Given the description of an element on the screen output the (x, y) to click on. 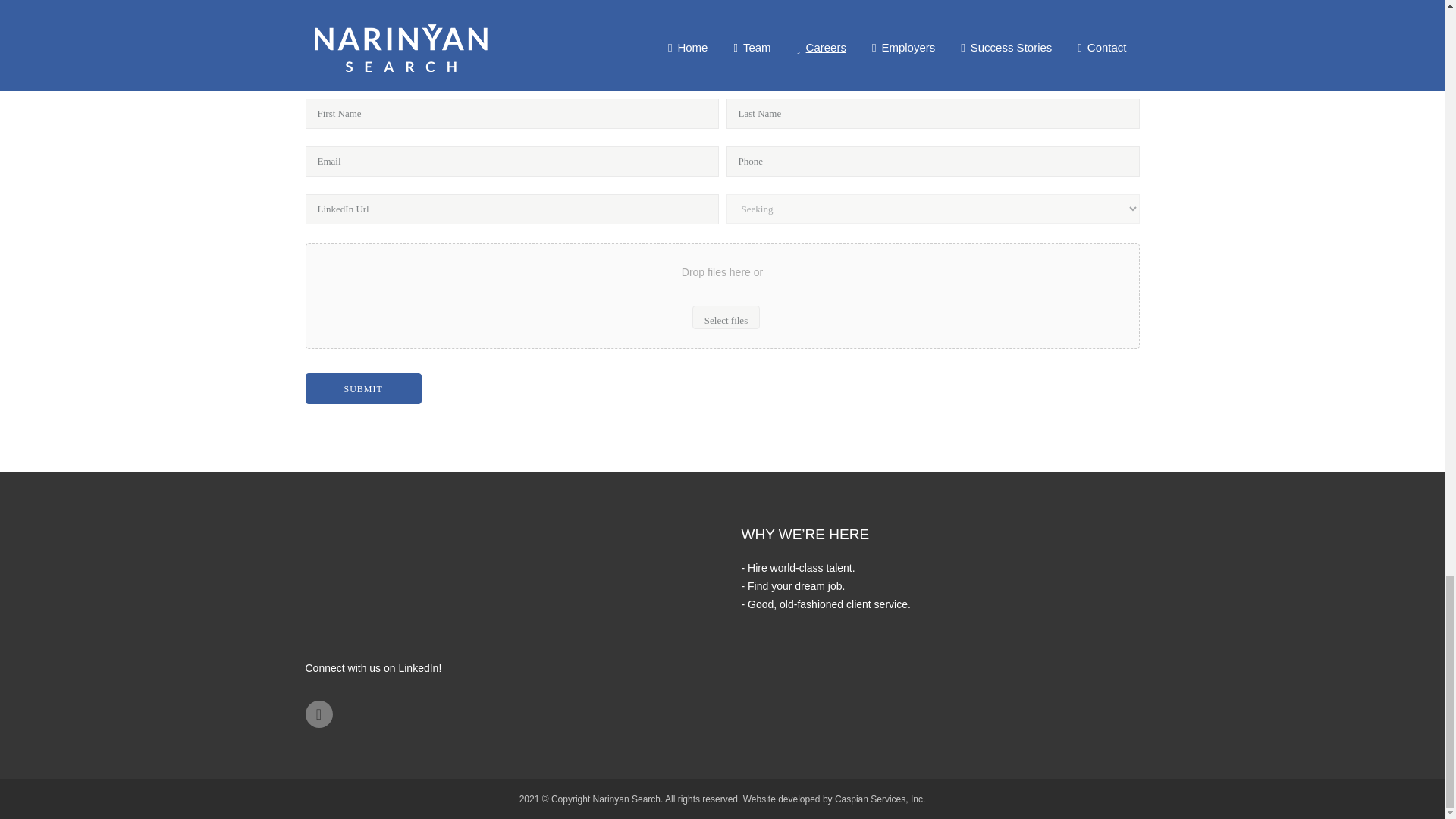
Narinyan Search (626, 798)
Submit (362, 388)
Caspian Services, Inc (878, 798)
Select files (726, 317)
Submit (362, 388)
